Given the description of an element on the screen output the (x, y) to click on. 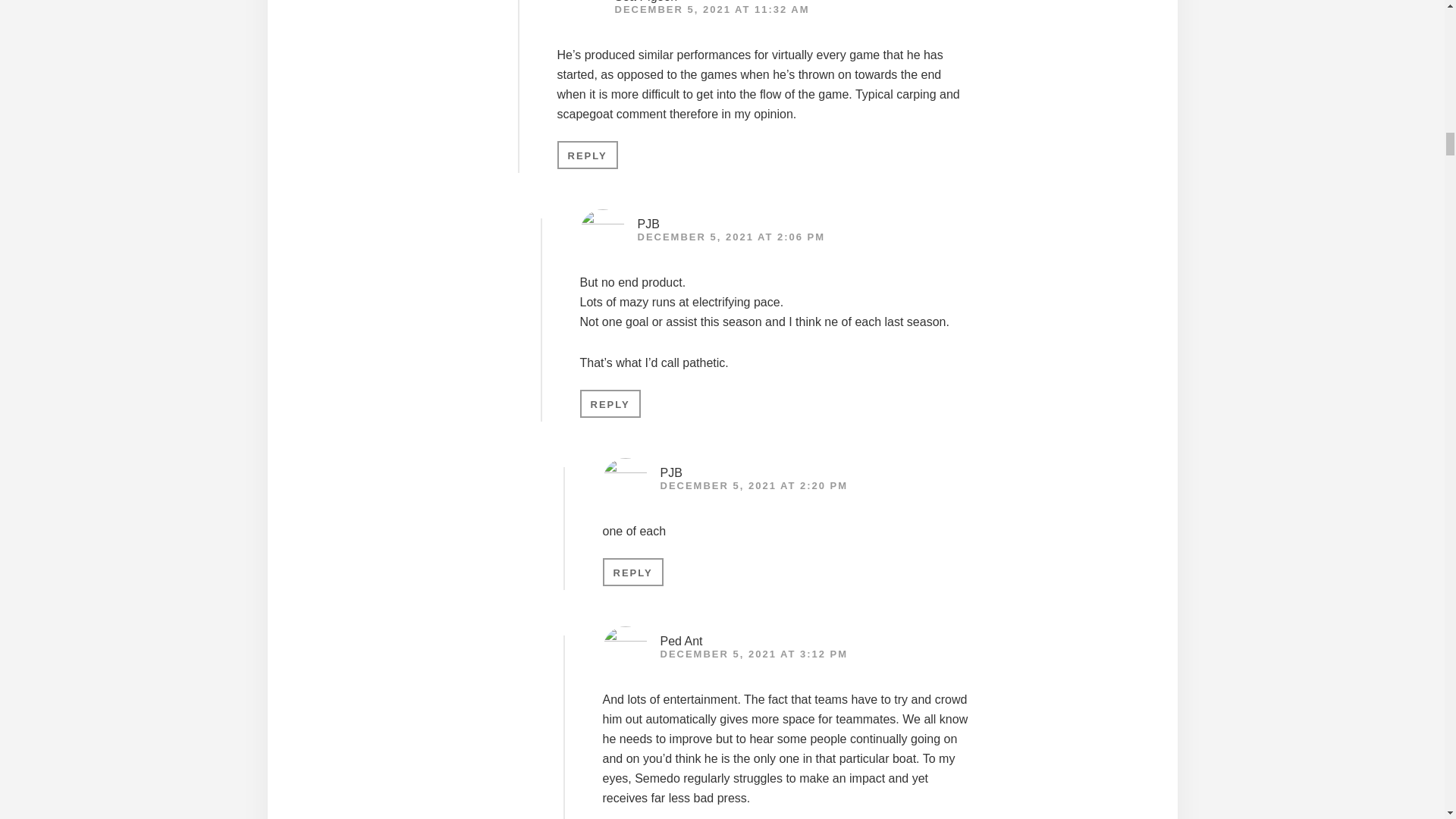
REPLY (586, 154)
REPLY (632, 571)
DECEMBER 5, 2021 AT 3:12 PM (753, 654)
DECEMBER 5, 2021 AT 2:20 PM (753, 485)
DECEMBER 5, 2021 AT 2:06 PM (731, 236)
REPLY (609, 403)
DECEMBER 5, 2021 AT 11:32 AM (711, 9)
